Given the description of an element on the screen output the (x, y) to click on. 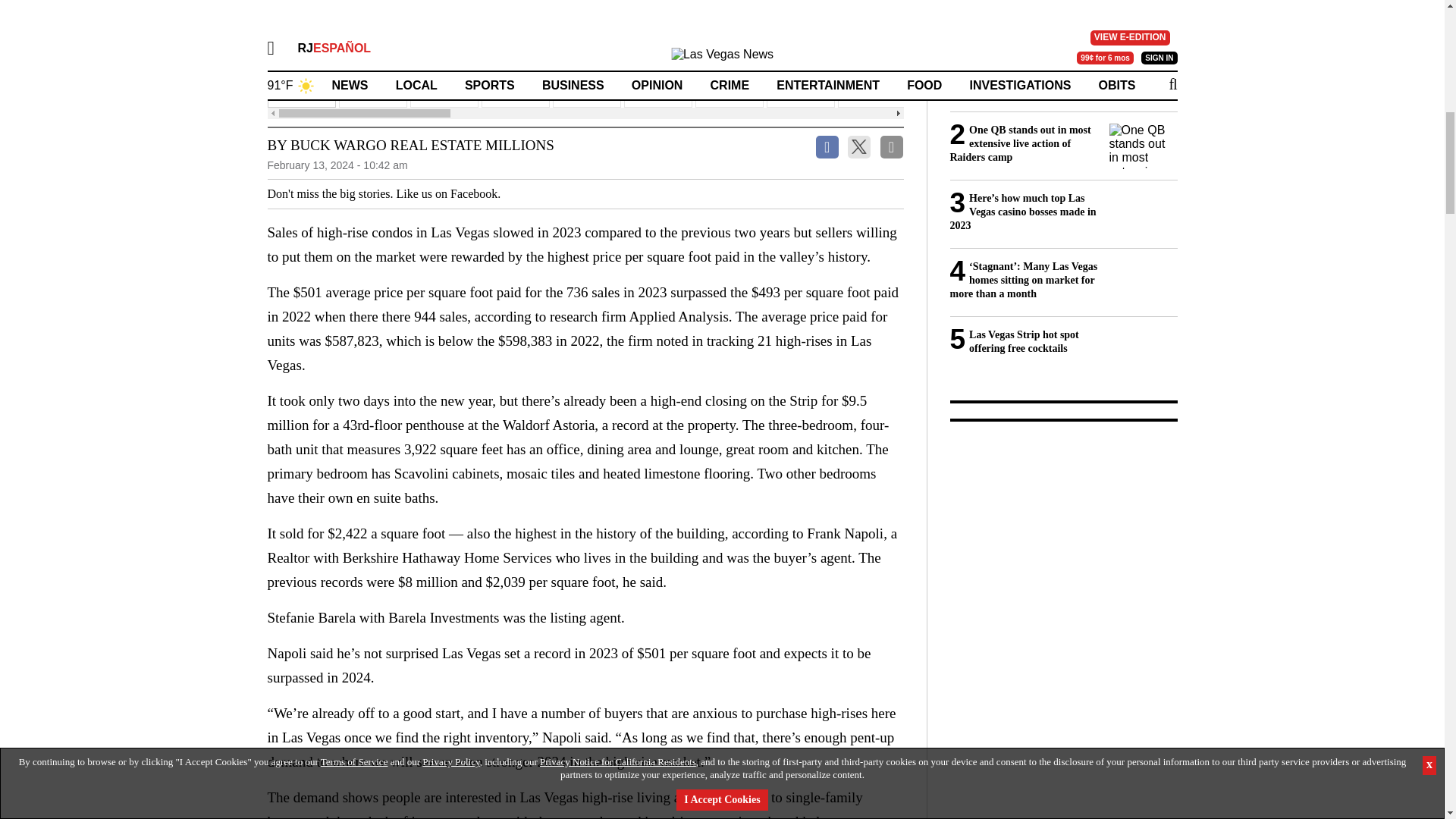
facebook like widget (557, 193)
